Given the description of an element on the screen output the (x, y) to click on. 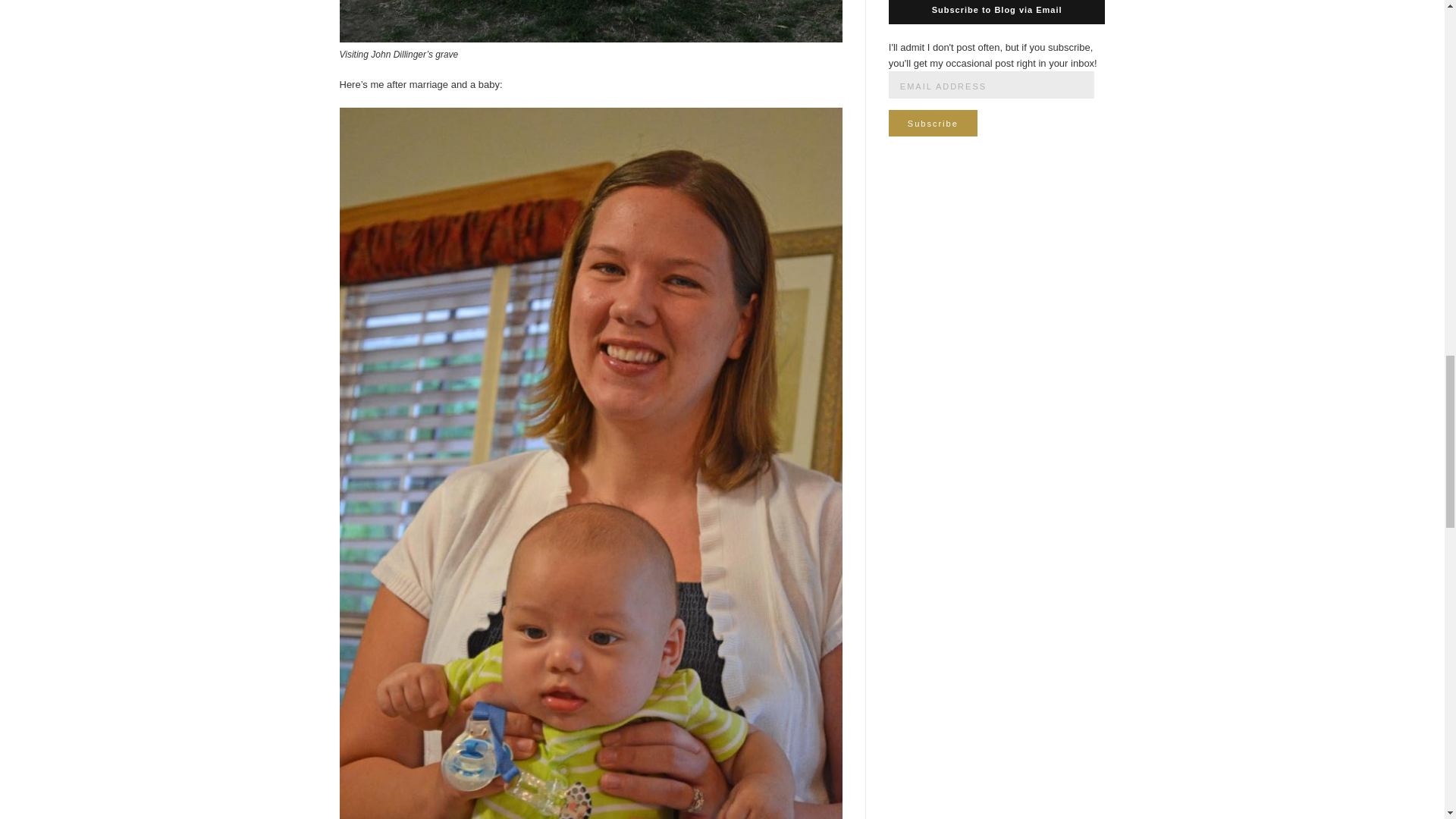
John Dillinger (591, 21)
Subscribe (932, 122)
